Given the description of an element on the screen output the (x, y) to click on. 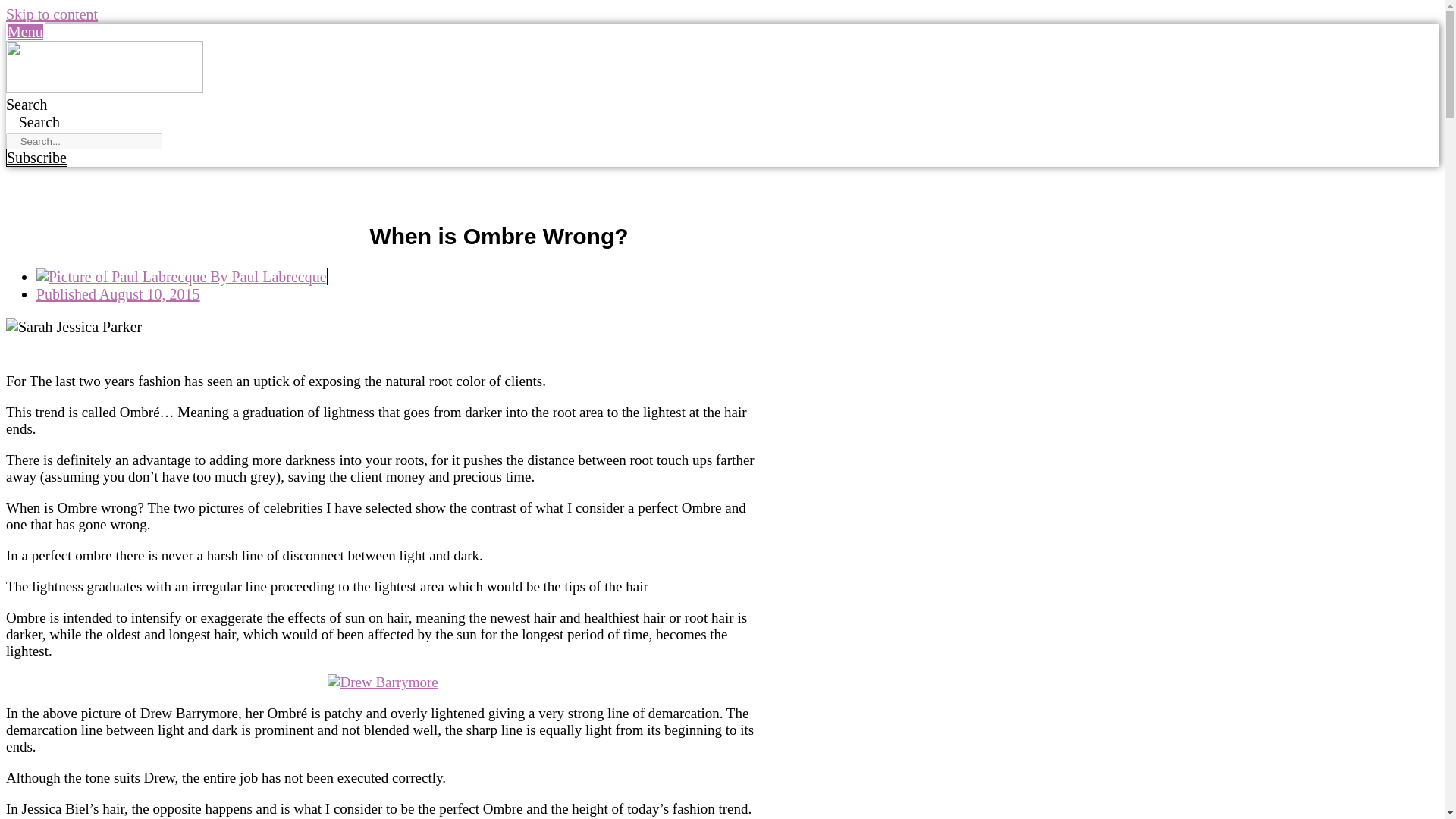
Subscribe (35, 157)
Skip to content (51, 13)
Published August 10, 2015 (118, 293)
By Paul Labrecque (181, 276)
Menu (25, 31)
Drew Barrymore (382, 682)
